Given the description of an element on the screen output the (x, y) to click on. 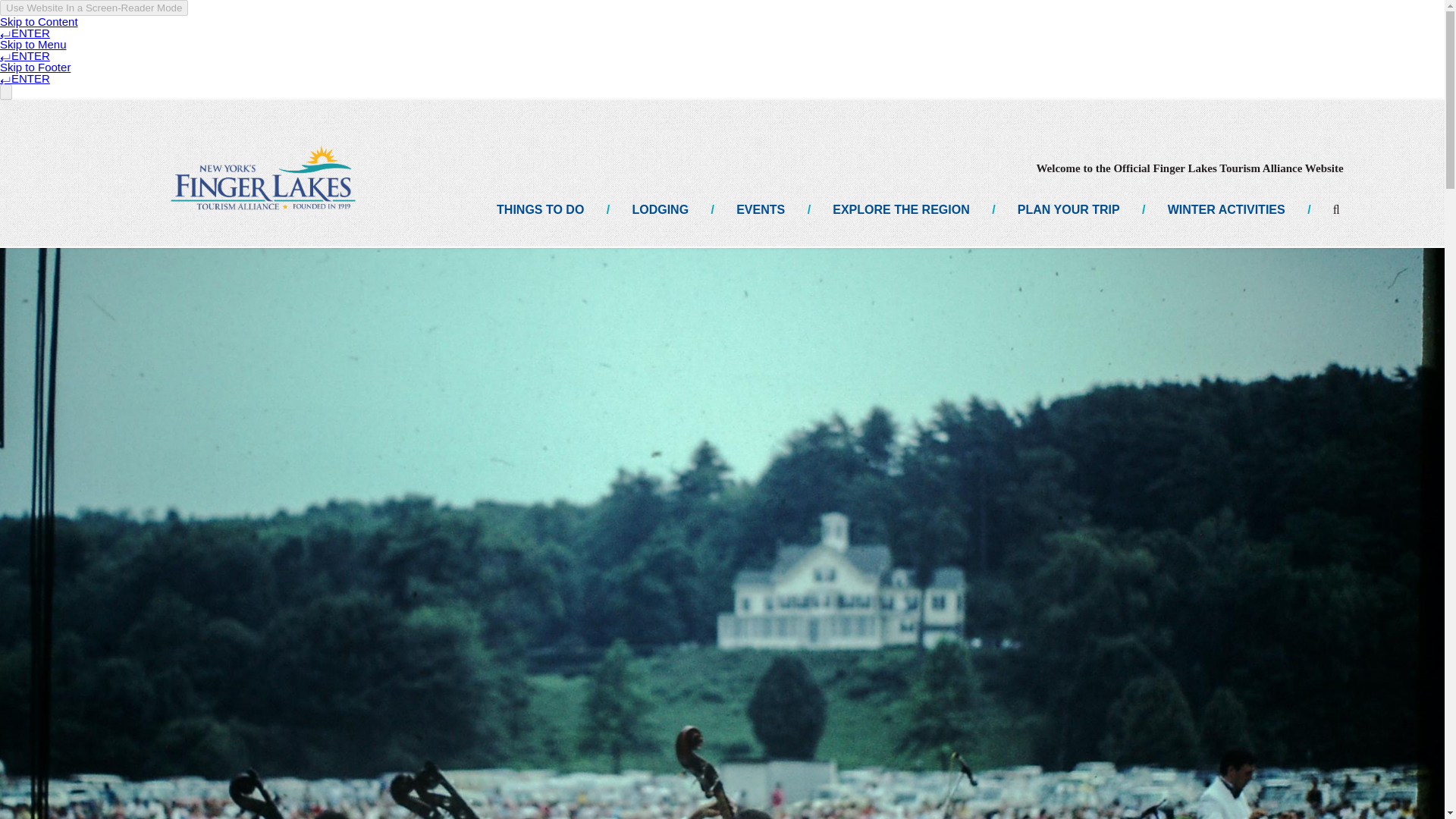
THINGS TO DO (539, 209)
EVENTS (760, 209)
LODGING (659, 209)
